Given the description of an element on the screen output the (x, y) to click on. 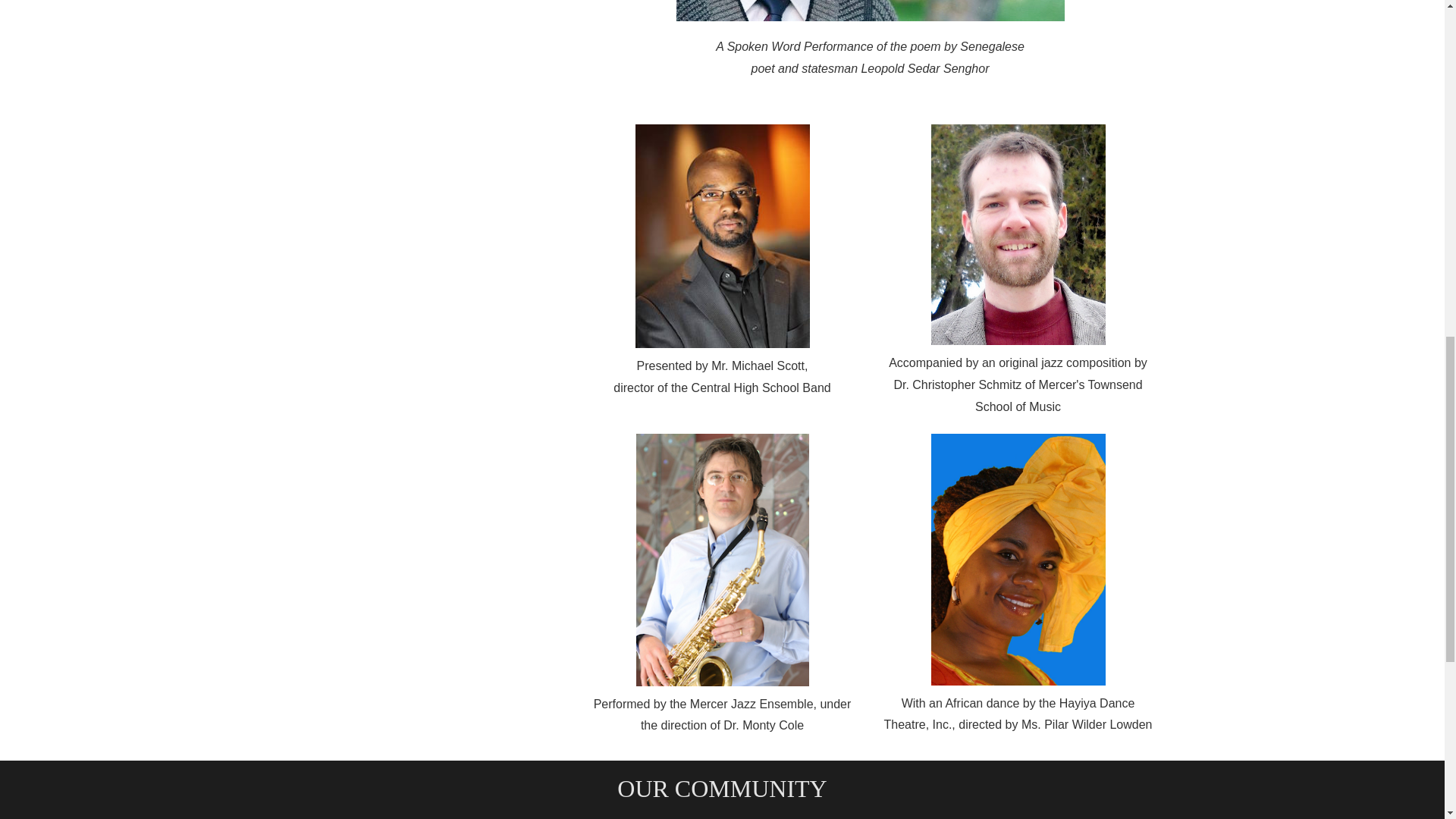
Senghor (870, 14)
PARENTS (738, 818)
